Given the description of an element on the screen output the (x, y) to click on. 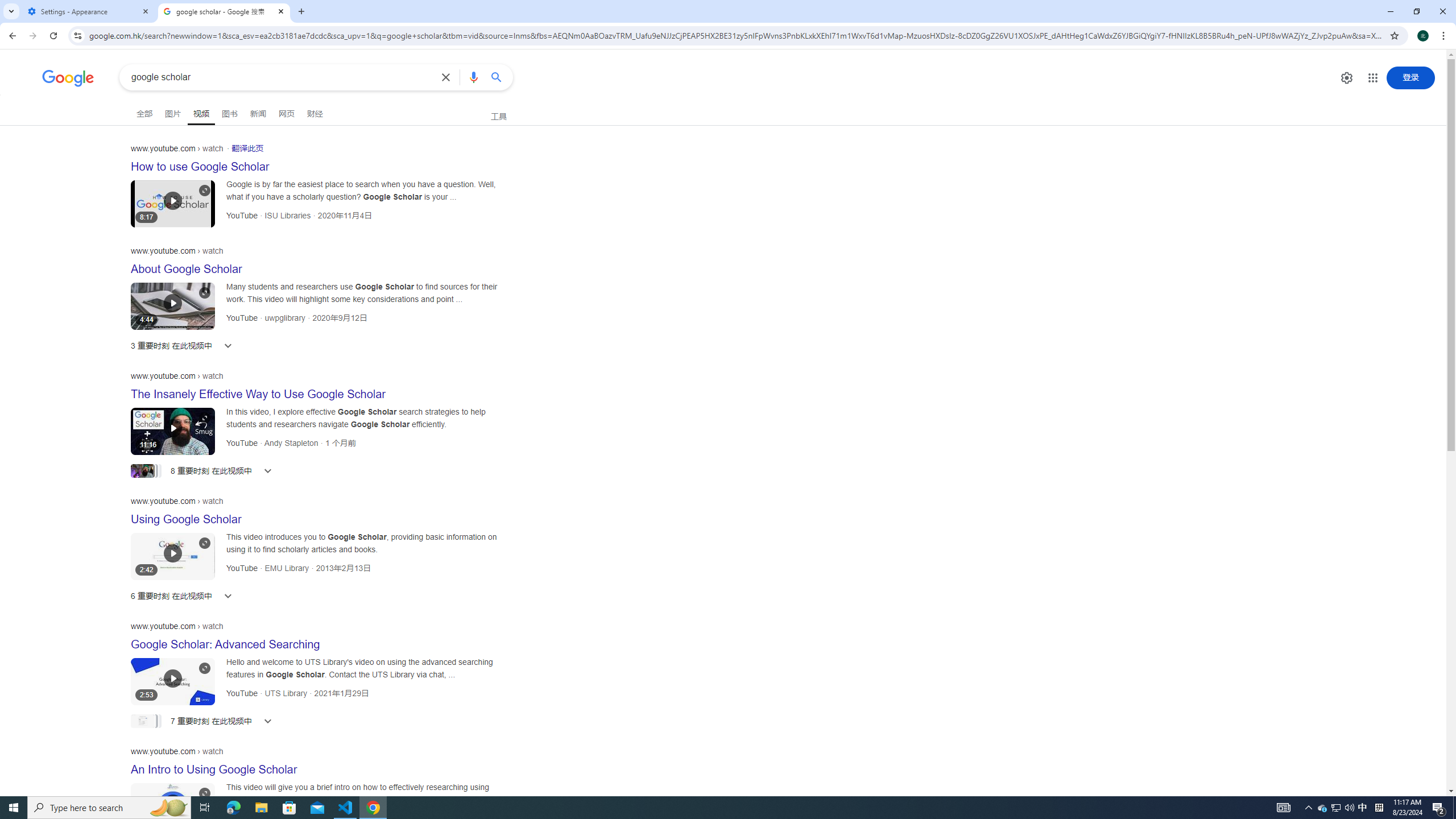
Settings - Appearance (88, 11)
